Given the description of an element on the screen output the (x, y) to click on. 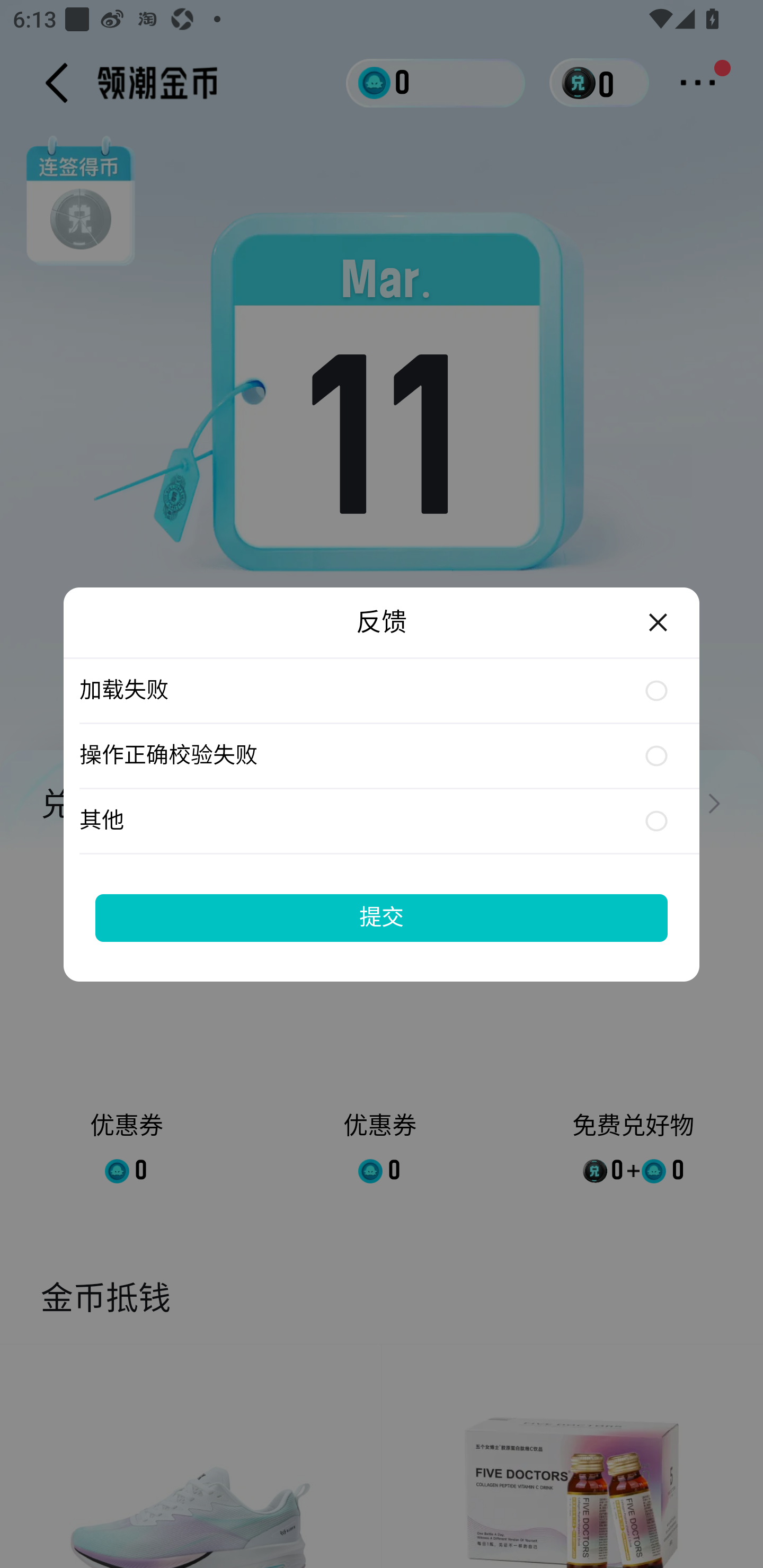
提交 (381, 917)
